Given the description of an element on the screen output the (x, y) to click on. 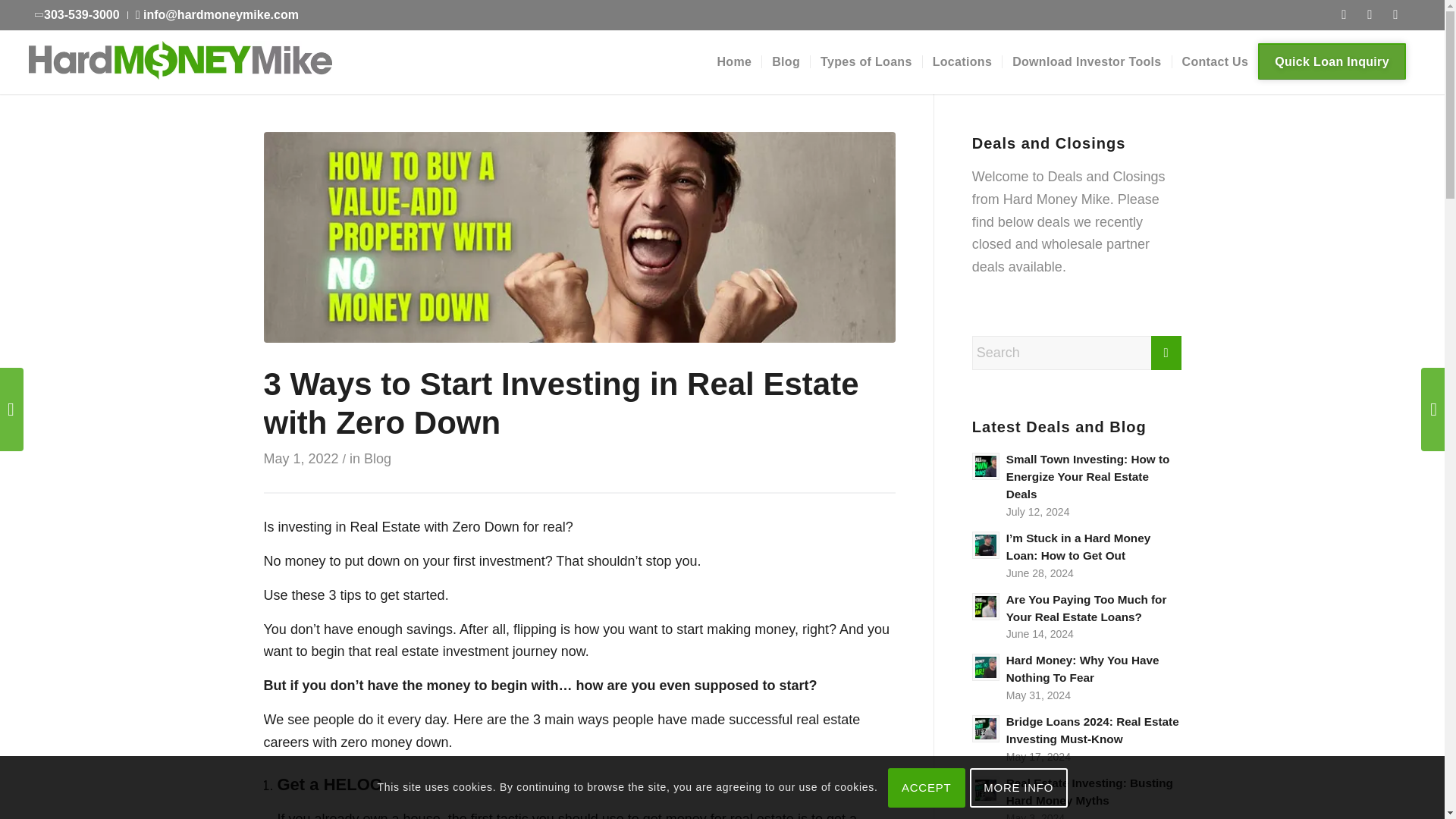
Hard Money Mike (180, 59)
Investing in Real Estate with Zero Down (579, 237)
Facebook (1343, 15)
Hard Money Mike (180, 61)
Types of Loans (865, 61)
Youtube (1395, 15)
Instagram (1369, 15)
303-539-3000 (77, 14)
Locations (961, 61)
